Given the description of an element on the screen output the (x, y) to click on. 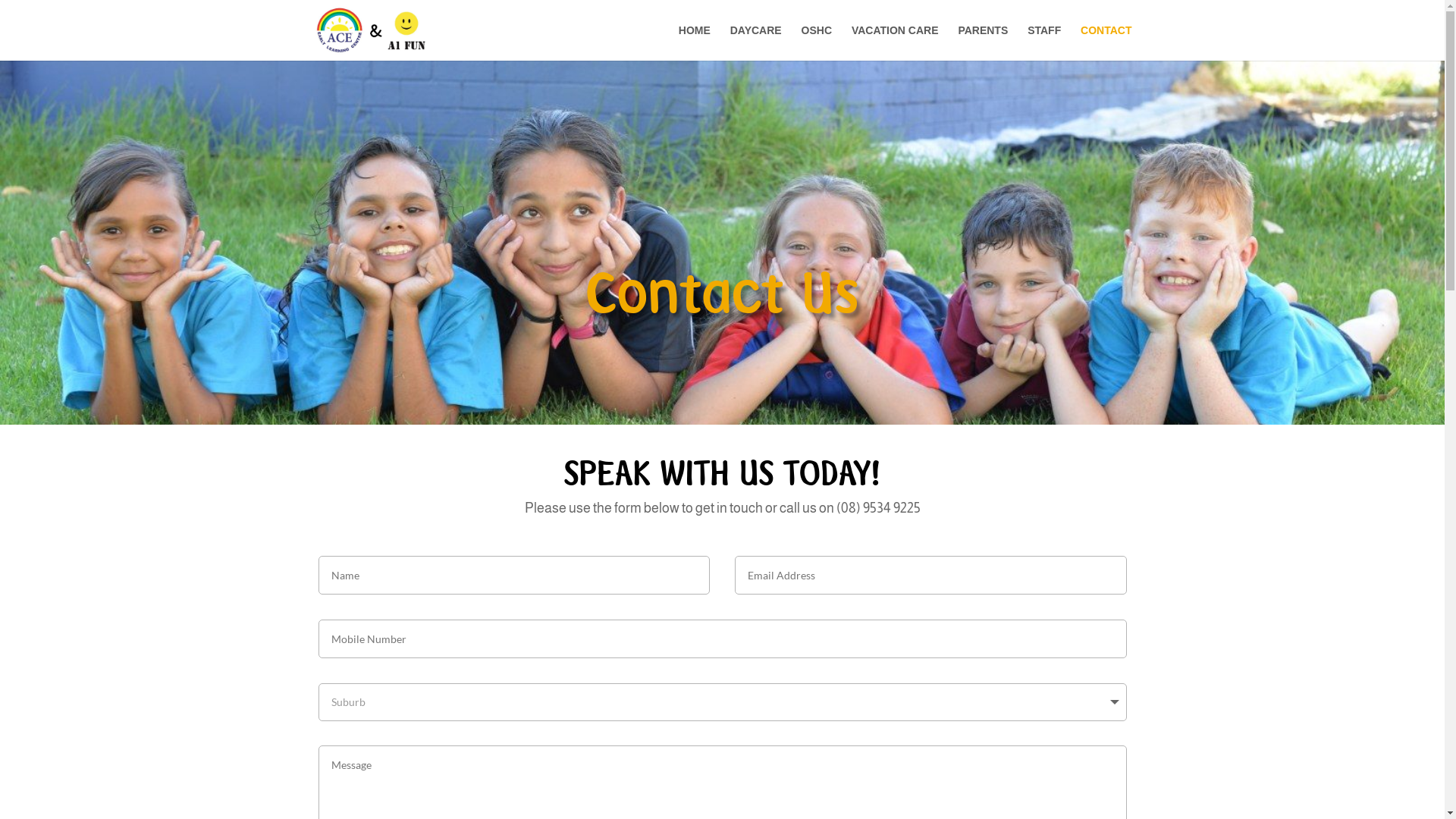
OSHC Element type: text (816, 42)
STAFF Element type: text (1043, 42)
VACATION CARE Element type: text (894, 42)
HOME Element type: text (694, 42)
CONTACT Element type: text (1105, 42)
DAYCARE Element type: text (755, 42)
PARENTS Element type: text (982, 42)
